Given the description of an element on the screen output the (x, y) to click on. 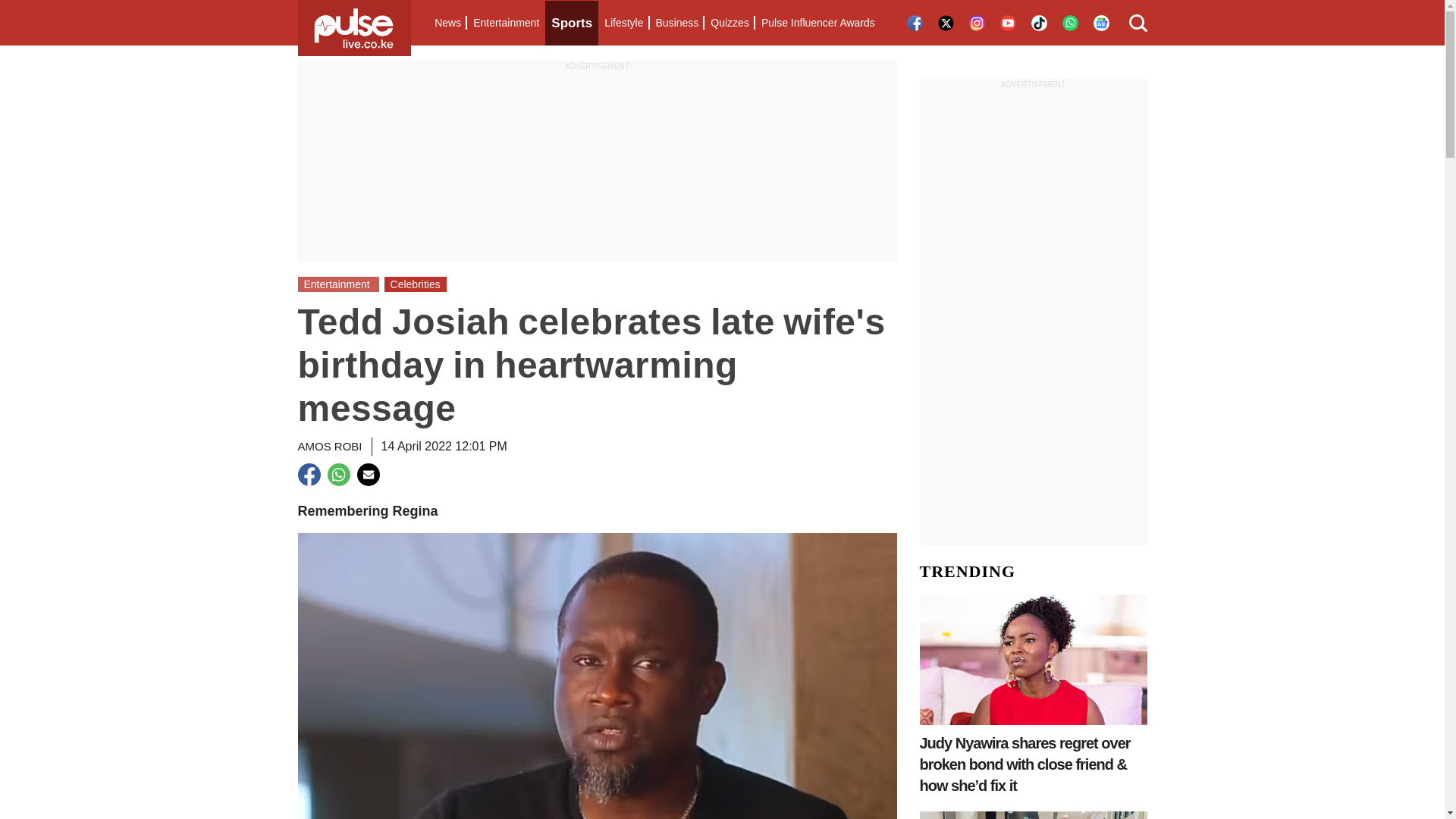
Pulse Influencer Awards (817, 22)
Sports (571, 22)
Business (676, 22)
Lifestyle (623, 22)
Entertainment (505, 22)
Quizzes (729, 22)
